Given the description of an element on the screen output the (x, y) to click on. 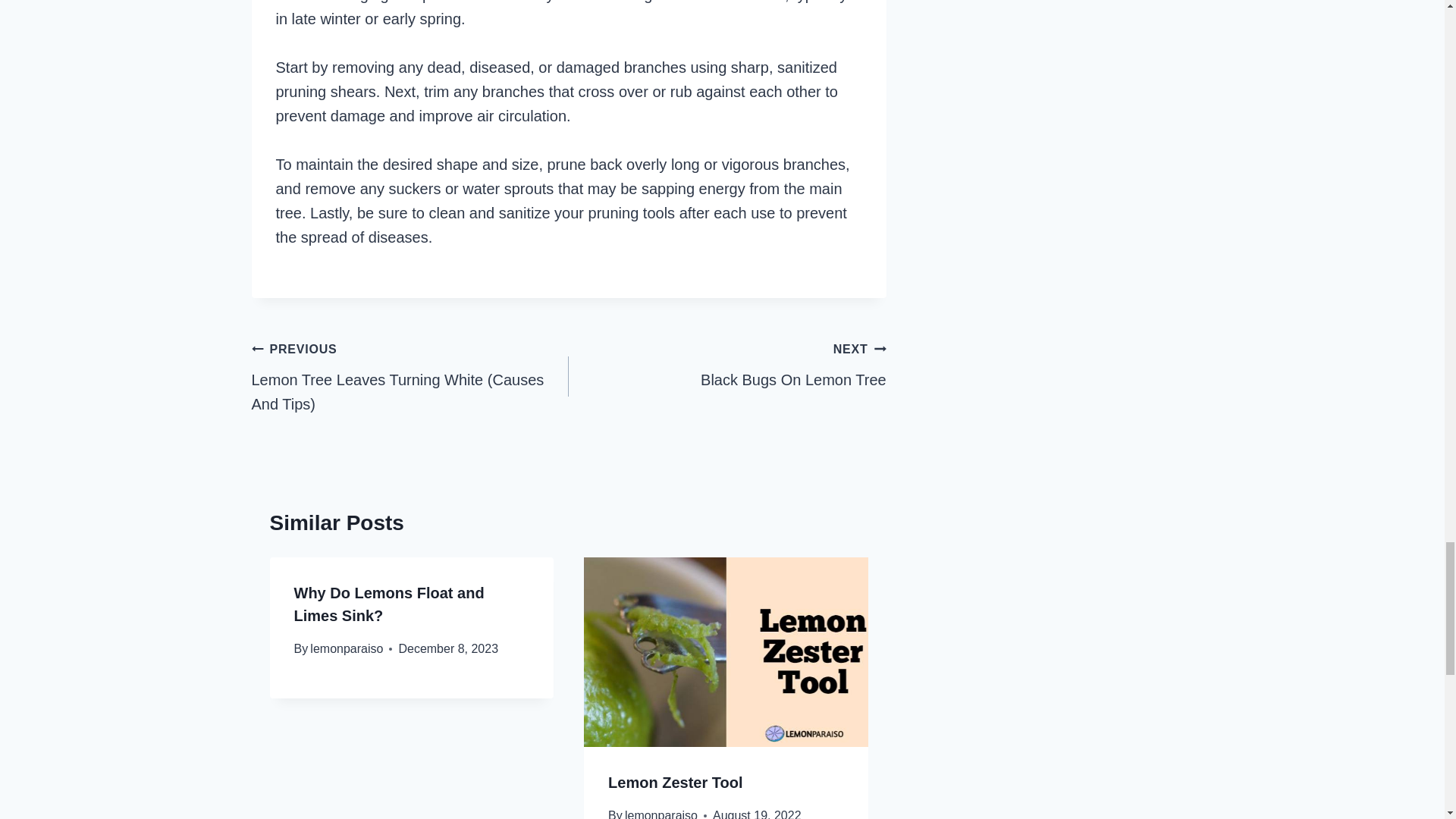
lemonparaiso (346, 648)
Why Do Lemons Float and Limes Sink? (727, 363)
Lemon Zester Tool (389, 604)
lemonparaiso (675, 782)
